Given the description of an element on the screen output the (x, y) to click on. 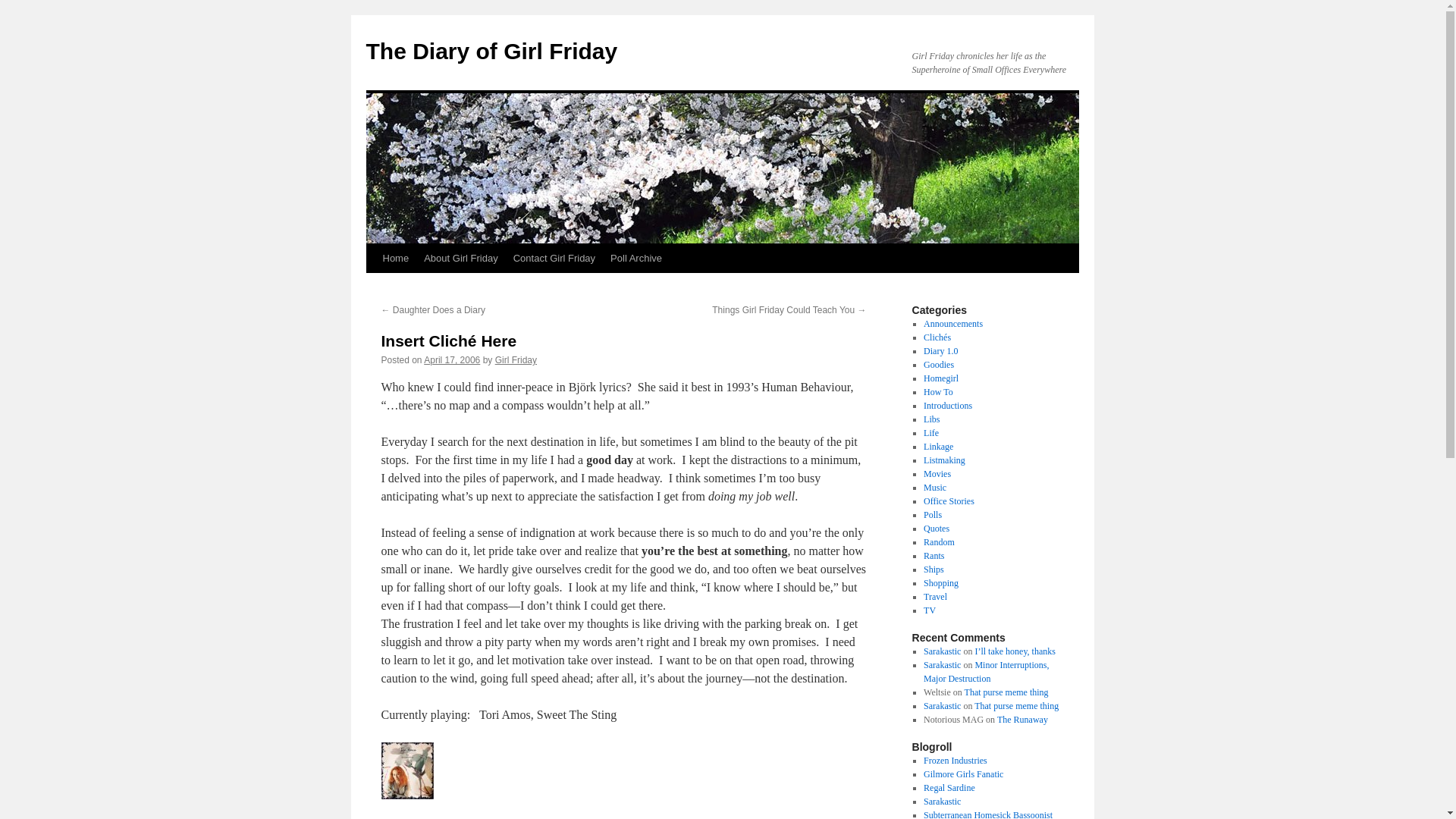
Diary 1.0 (940, 350)
Contact Girl Friday (553, 258)
The Diary of Girl Friday (491, 50)
Goodies (938, 364)
TV (929, 610)
Girl Friday (516, 359)
Ships (933, 569)
Music (934, 487)
Office Stories (948, 501)
April 17, 2006 (451, 359)
